Given the description of an element on the screen output the (x, y) to click on. 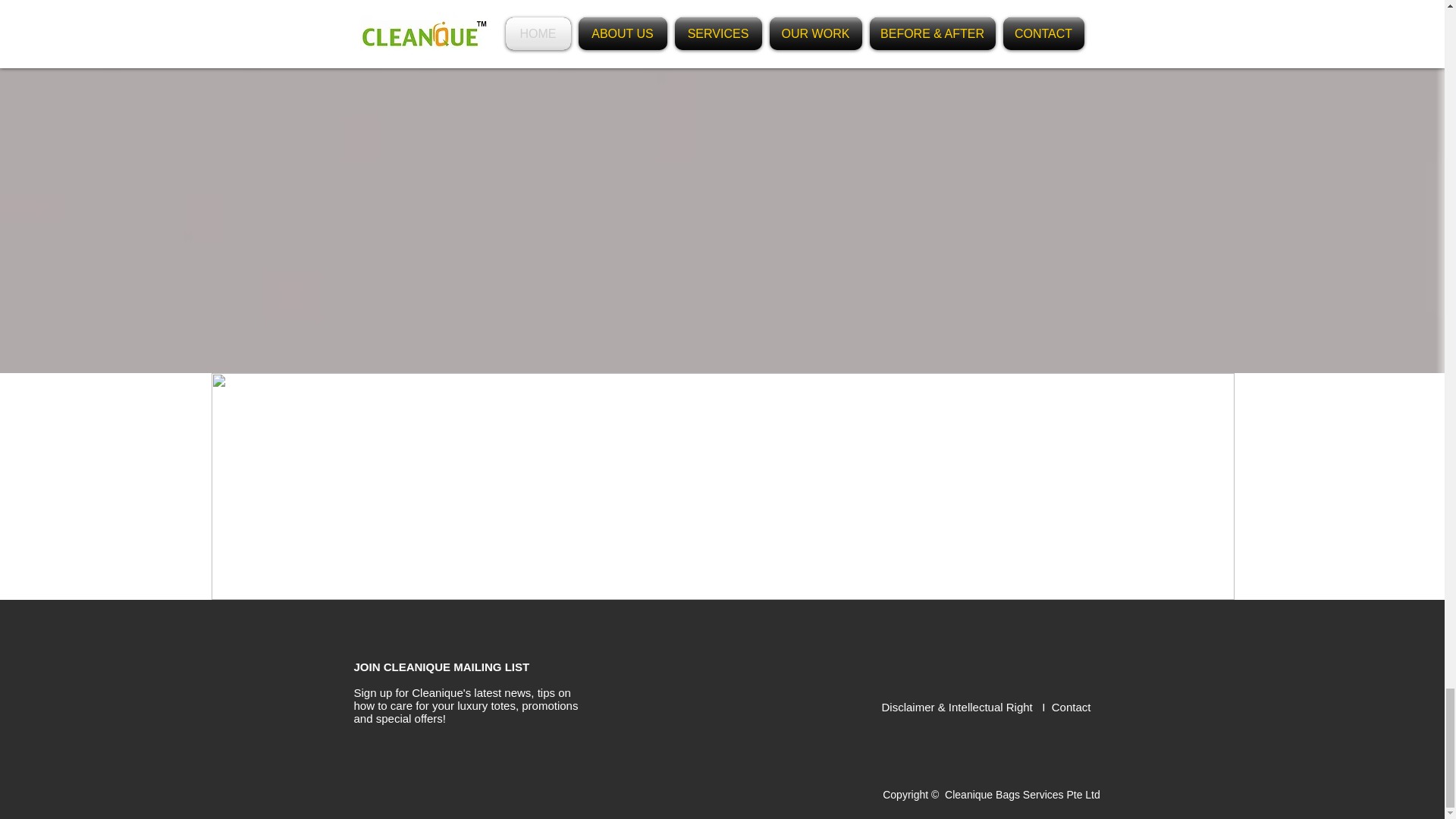
OIN CLEANIQUE MAILING LIST (444, 666)
